Given the description of an element on the screen output the (x, y) to click on. 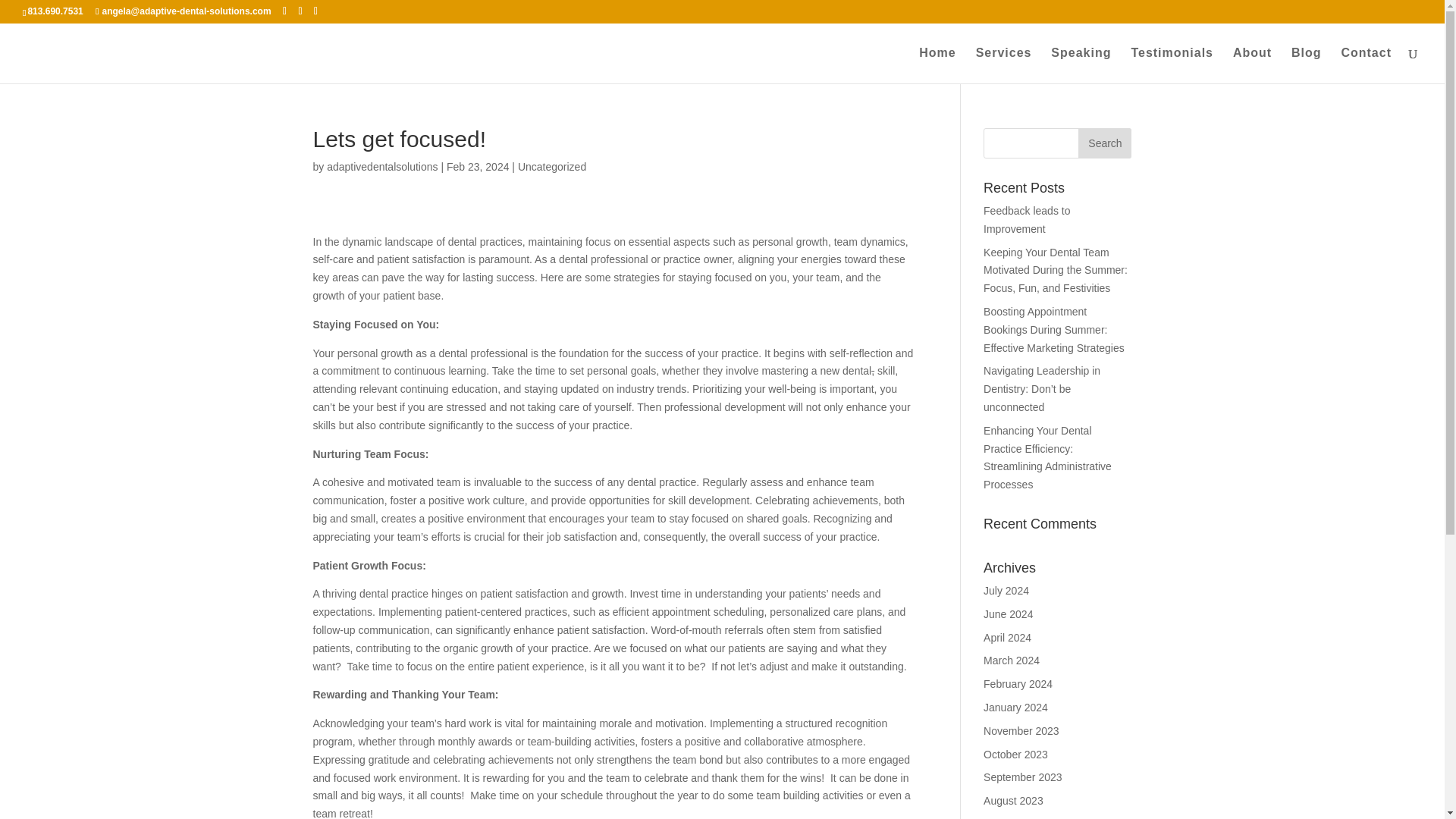
October 2023 (1016, 754)
September 2023 (1023, 776)
January 2024 (1016, 707)
Posts by adaptivedentalsolutions (382, 166)
July 2024 (1006, 590)
July 2023 (1006, 818)
Contact (1365, 65)
March 2024 (1011, 660)
